Given the description of an element on the screen output the (x, y) to click on. 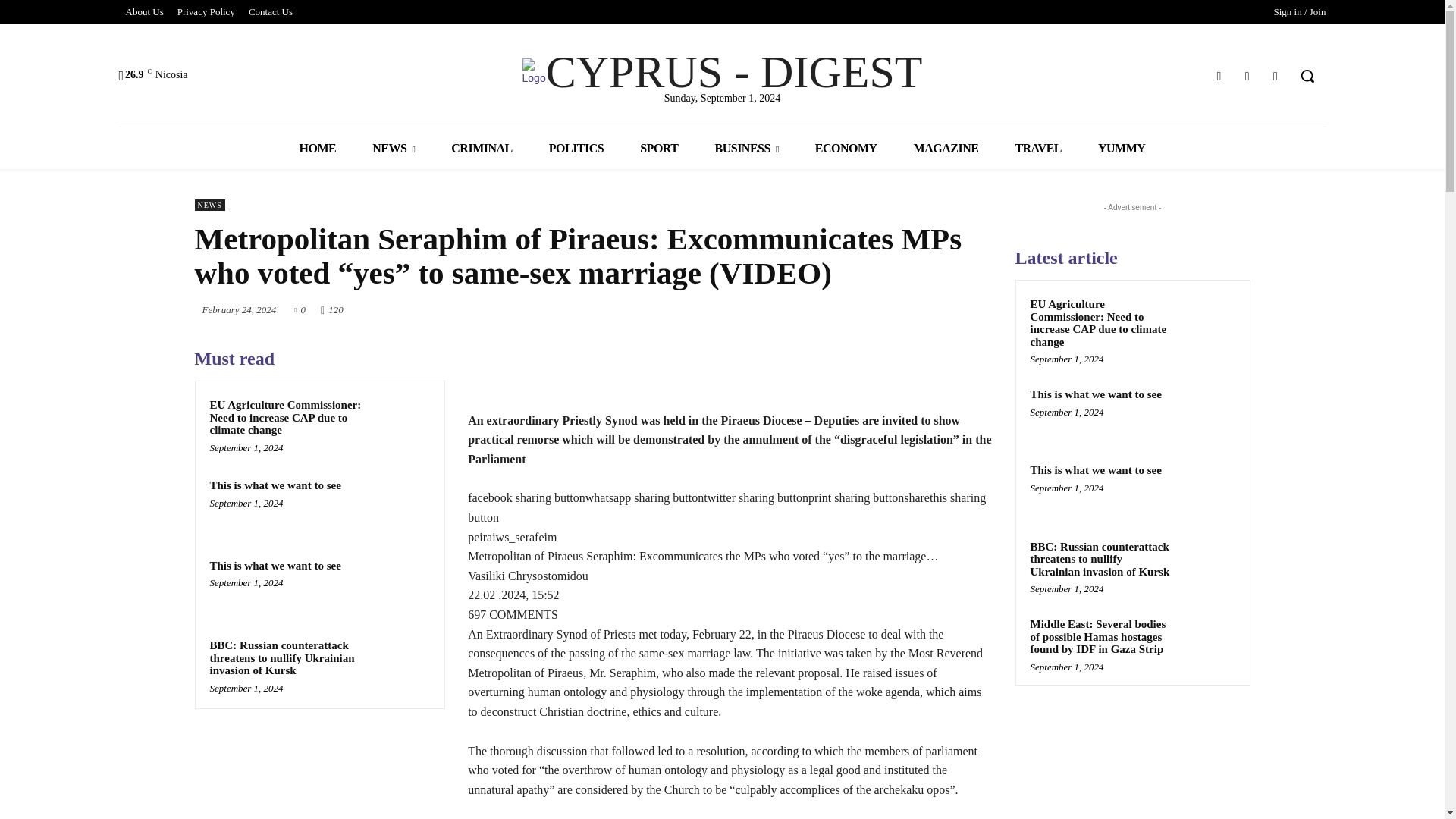
Privacy Policy (205, 12)
Youtube (1275, 76)
NEWS (392, 147)
CYPRUS - DIGEST (721, 71)
HOME (318, 147)
Contact Us (270, 12)
About Us (143, 12)
Facebook (1218, 76)
Twitter (1246, 76)
